Given the description of an element on the screen output the (x, y) to click on. 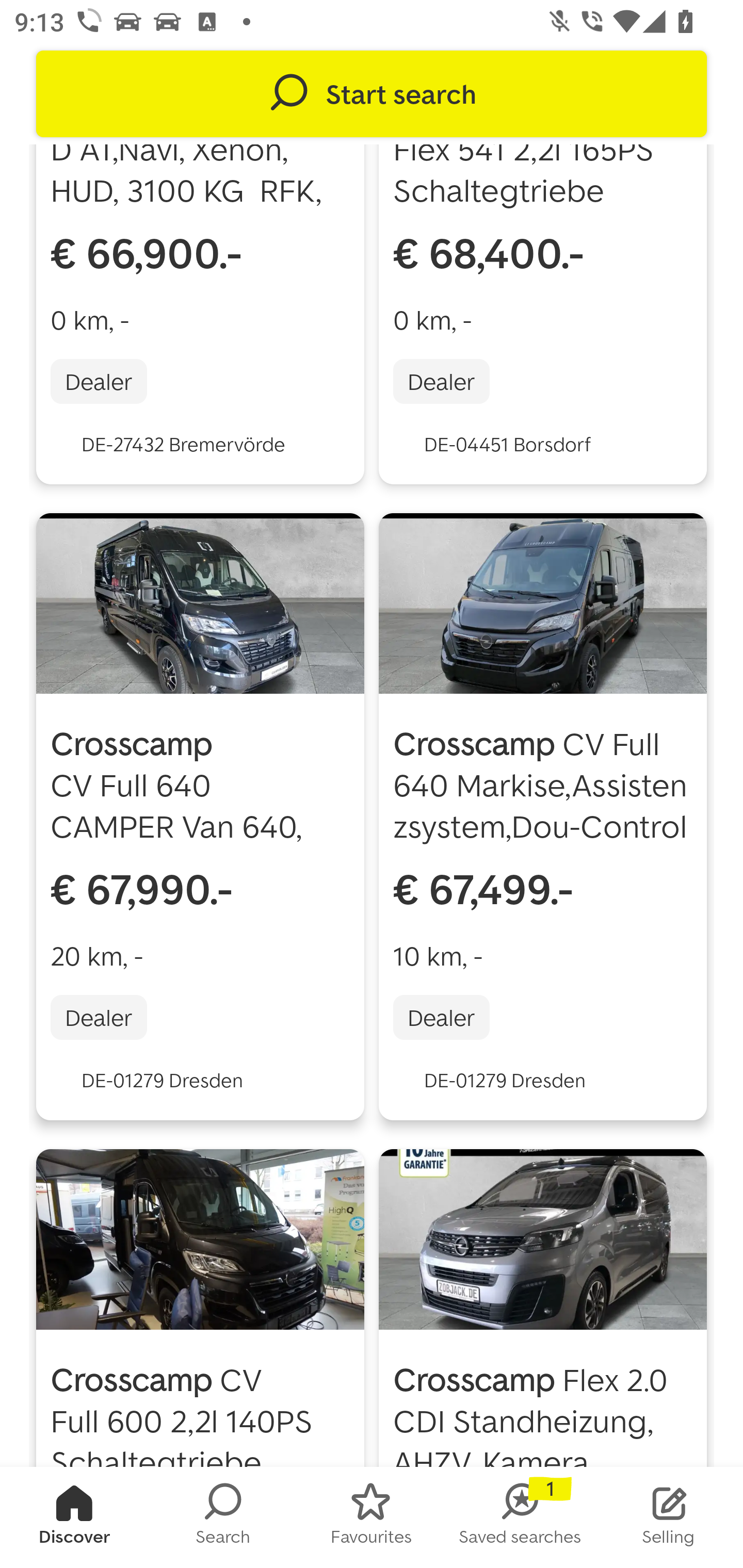
Start search (371, 93)
HOMESCREEN Discover (74, 1517)
SEARCH Search (222, 1517)
FAVORITES Favourites (371, 1517)
SAVED_SEARCHES Saved searches 1 (519, 1517)
STOCK_LIST Selling (668, 1517)
